Given the description of an element on the screen output the (x, y) to click on. 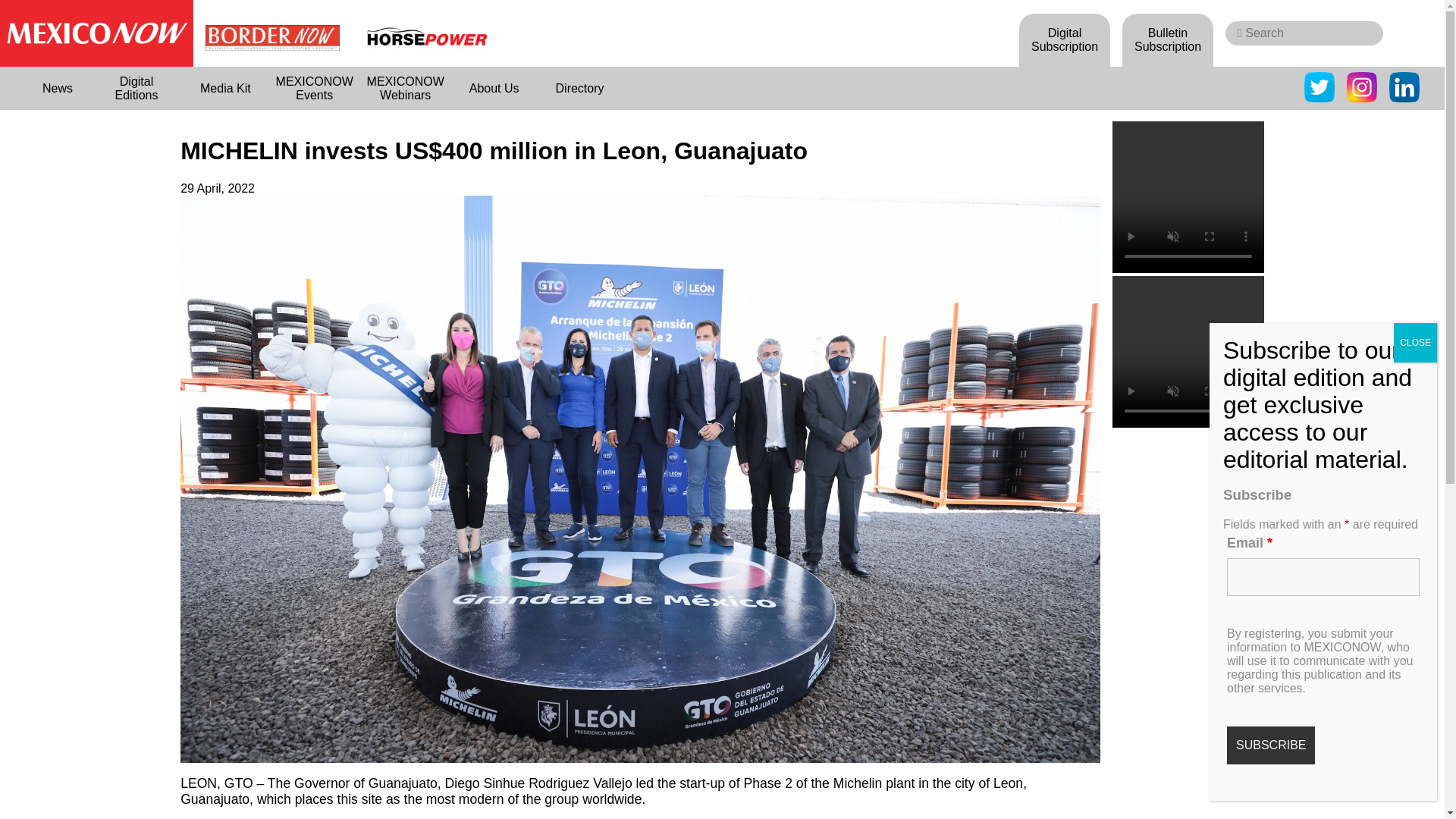
Digital Editions (136, 87)
Media Kit (225, 87)
Directory (580, 87)
MEXICONOW Events (314, 87)
News (57, 87)
MEXICONOW Webinars (405, 87)
About Us (494, 87)
SUBSCRIBE (1270, 745)
Digital Subscription (1064, 39)
Bulletin Subscription (1167, 39)
